Given the description of an element on the screen output the (x, y) to click on. 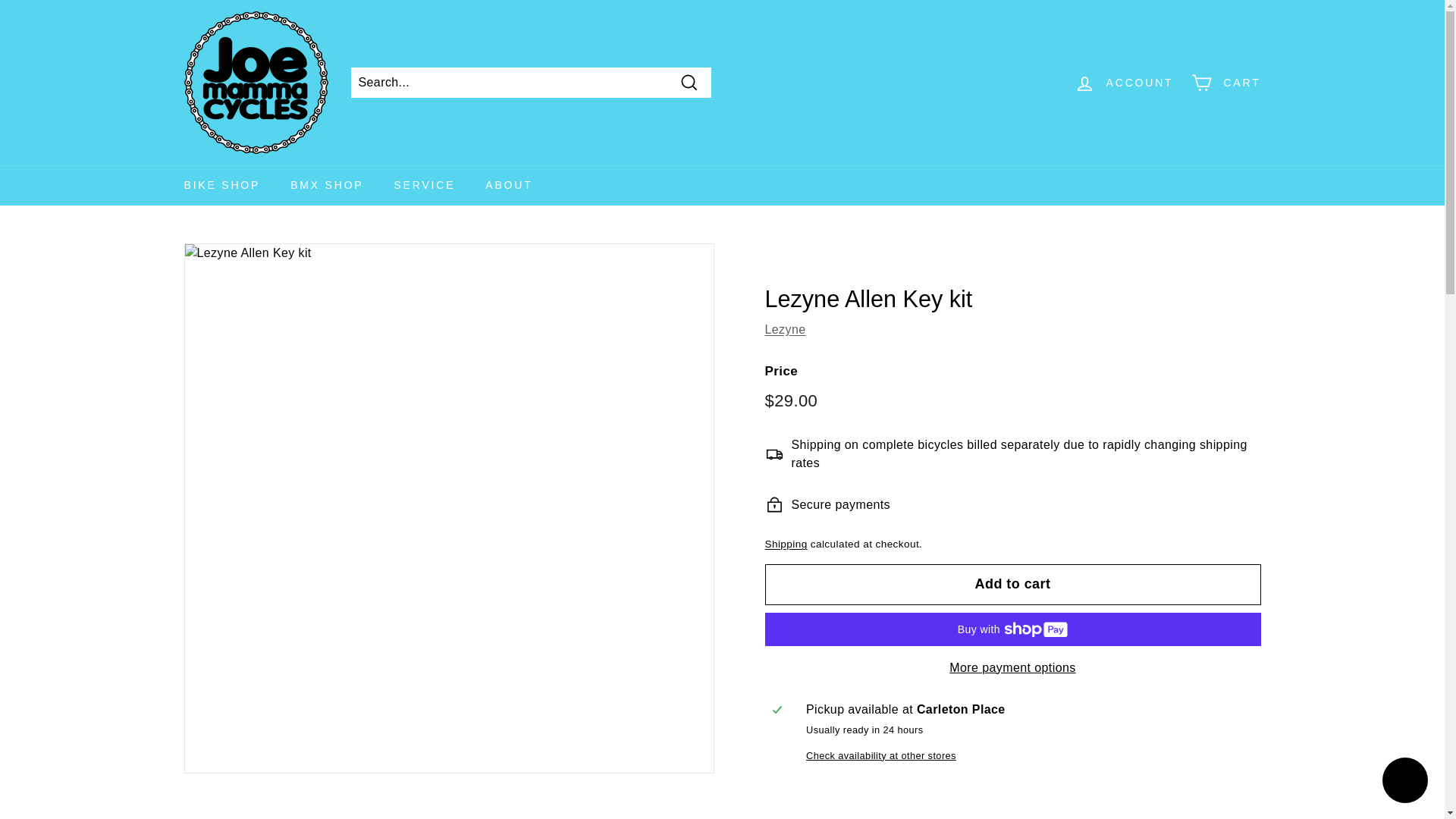
BIKE SHOP (221, 185)
ACCOUNT (1123, 82)
